Given the description of an element on the screen output the (x, y) to click on. 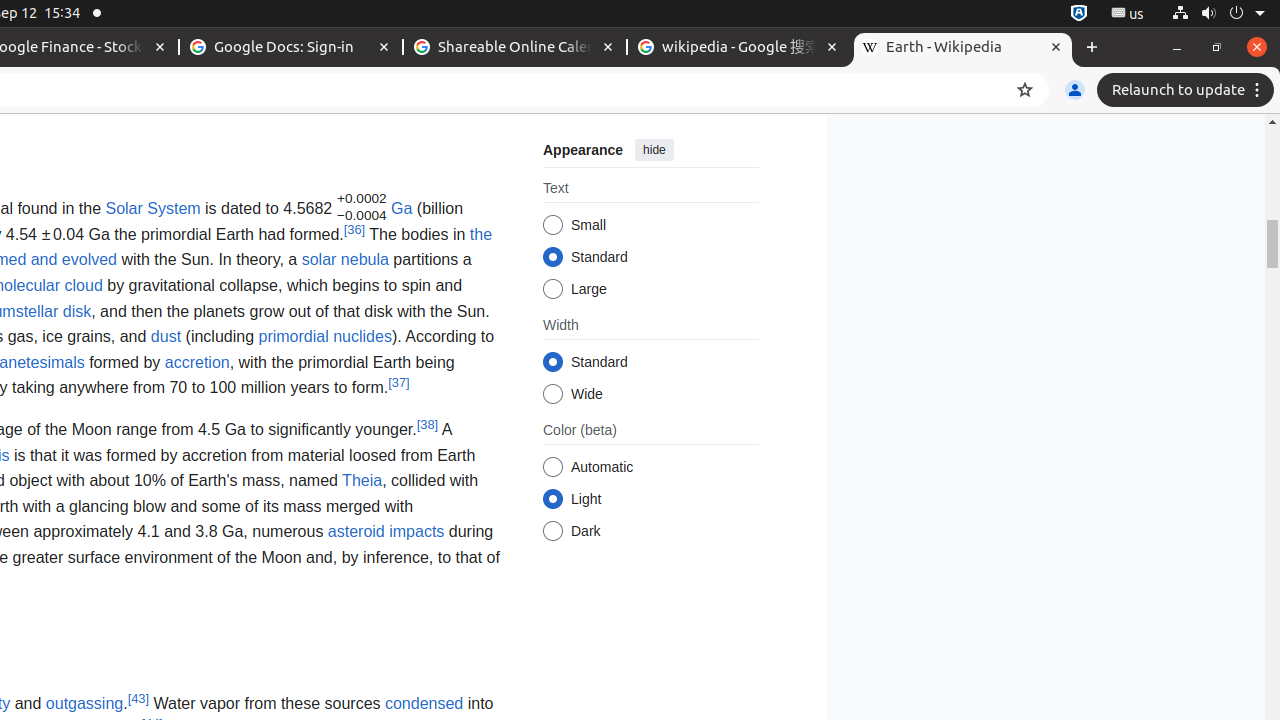
condensed Element type: link (424, 703)
Bookmark this tab Element type: push-button (1025, 90)
[43] Element type: link (138, 698)
Dark Element type: radio-button (552, 531)
